Given the description of an element on the screen output the (x, y) to click on. 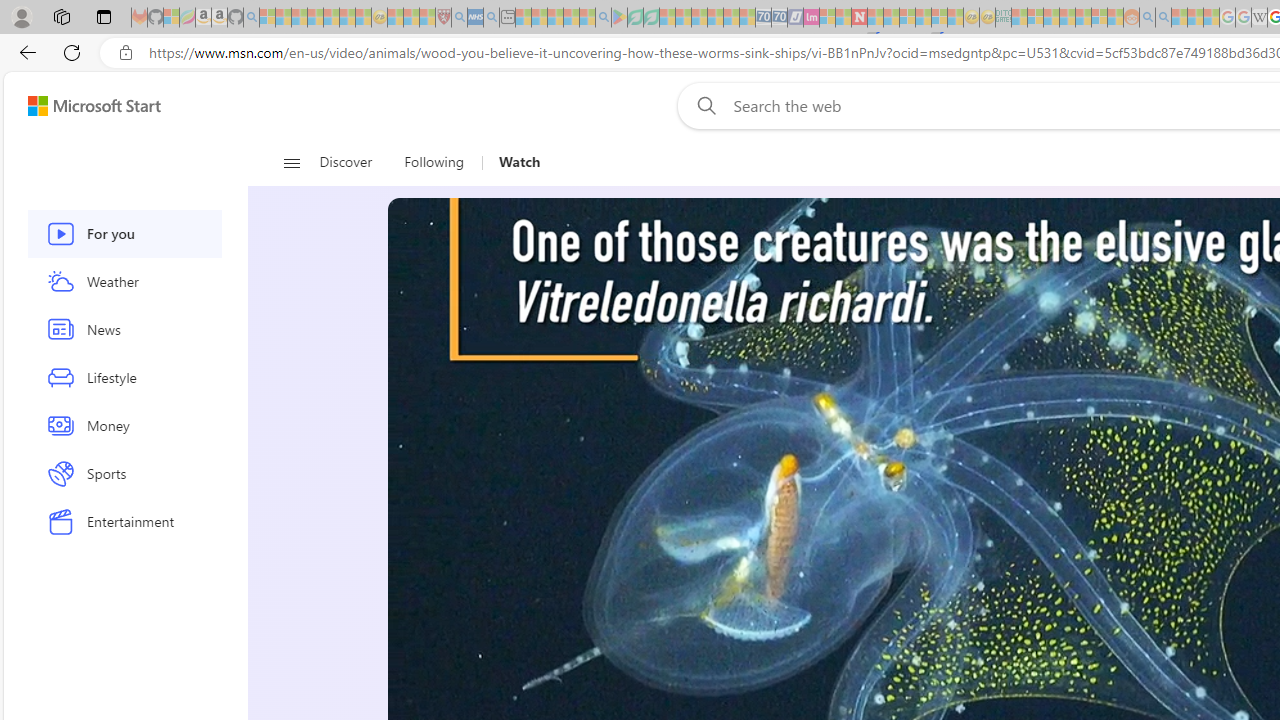
Jobs - lastminute.com Investor Portal - Sleeping (811, 17)
The Weather Channel - MSN - Sleeping (299, 17)
utah sues federal government - Search - Sleeping (491, 17)
Target page - Wikipedia - Sleeping (1259, 17)
